Given the description of an element on the screen output the (x, y) to click on. 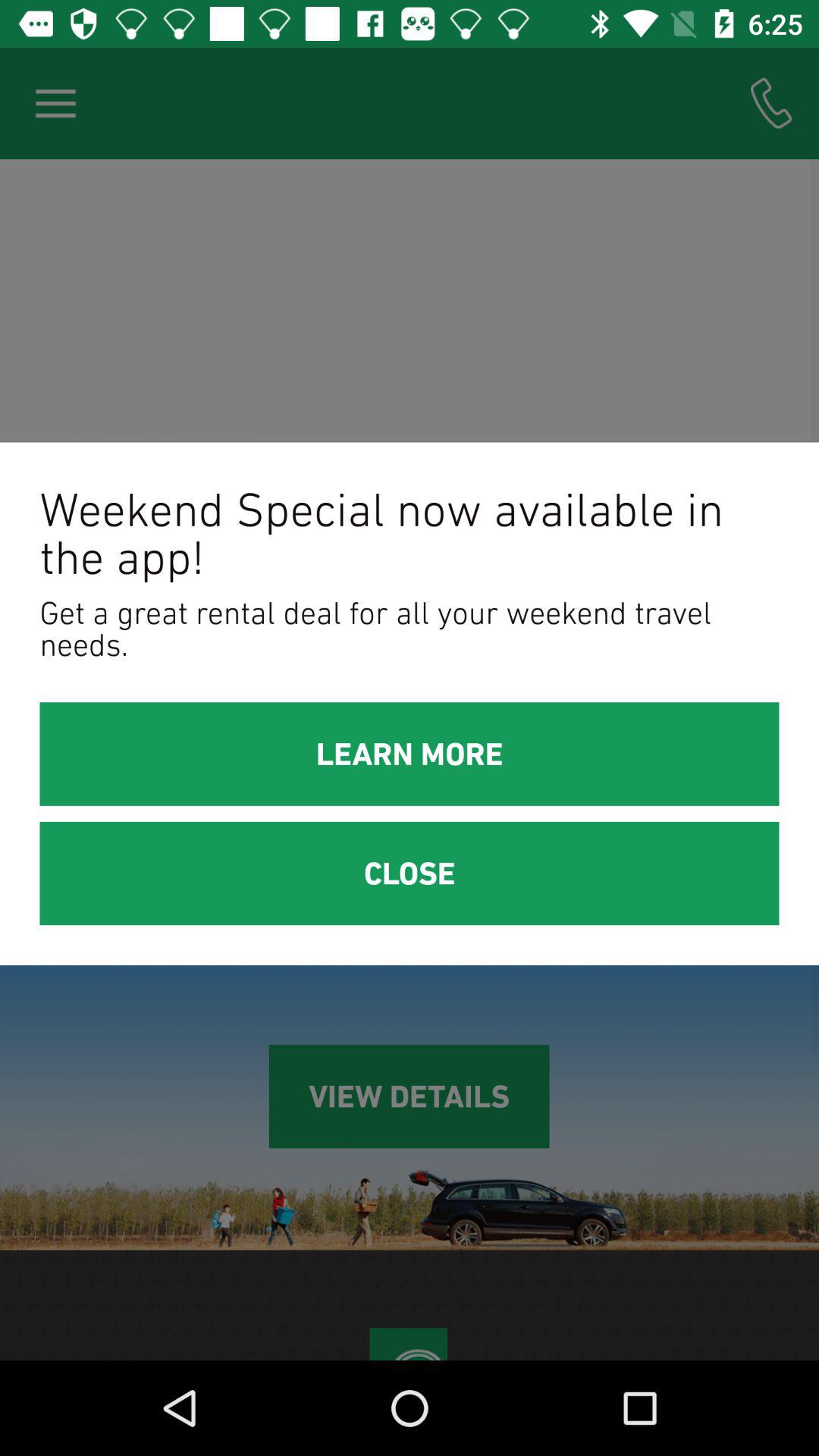
select icon below the get a great item (409, 753)
